Given the description of an element on the screen output the (x, y) to click on. 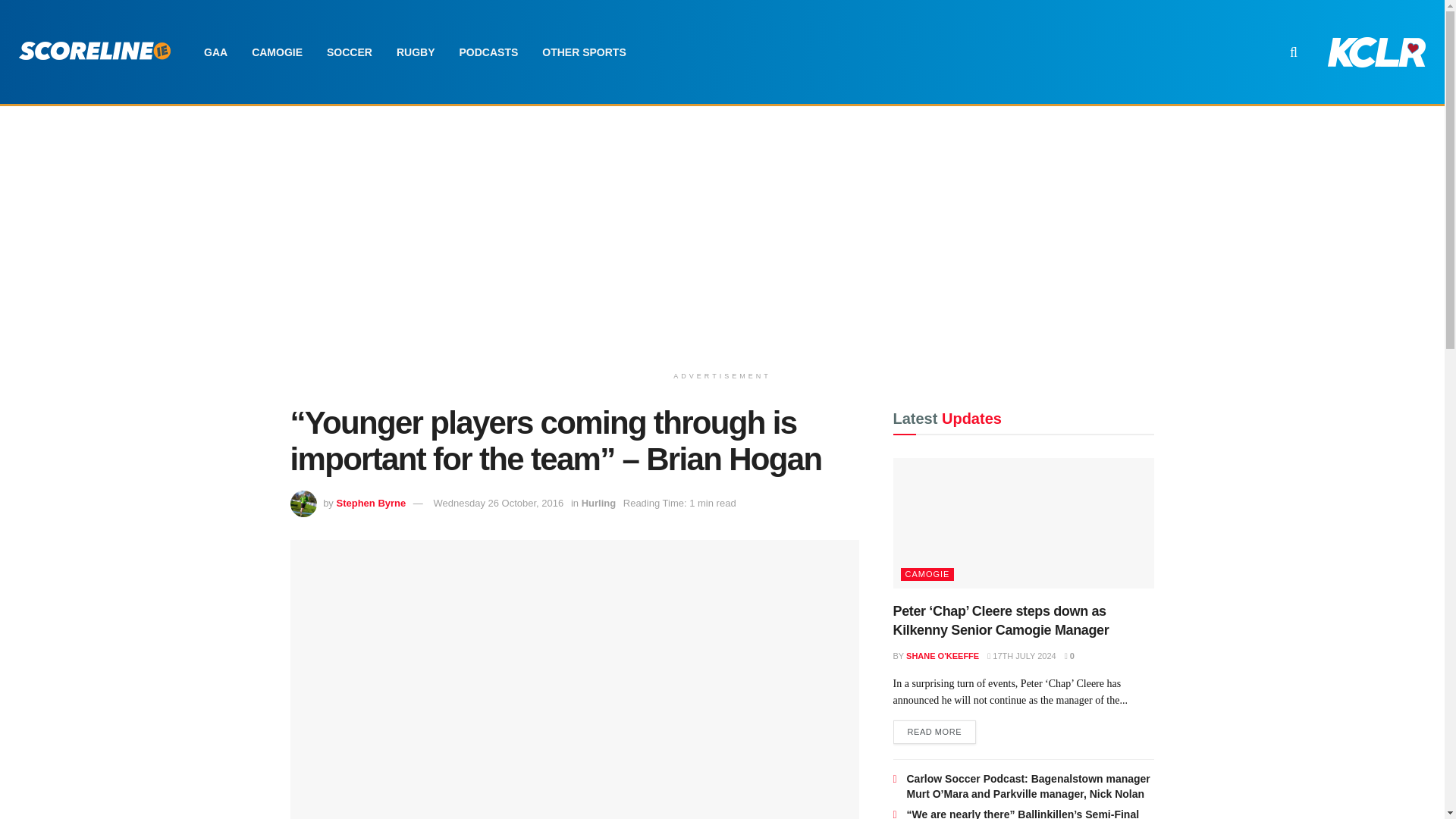
Wednesday 26 October, 2016 (497, 502)
Hurling (597, 502)
CAMOGIE (277, 52)
GAA (216, 52)
OTHER SPORTS (583, 52)
READ MORE (934, 732)
CAMOGIE (928, 574)
SOCCER (349, 52)
Stephen Byrne (371, 502)
0 (1069, 655)
SHANE O'KEEFFE (941, 655)
RUGBY (415, 52)
PODCASTS (487, 52)
17TH JULY 2024 (1021, 655)
